Given the description of an element on the screen output the (x, y) to click on. 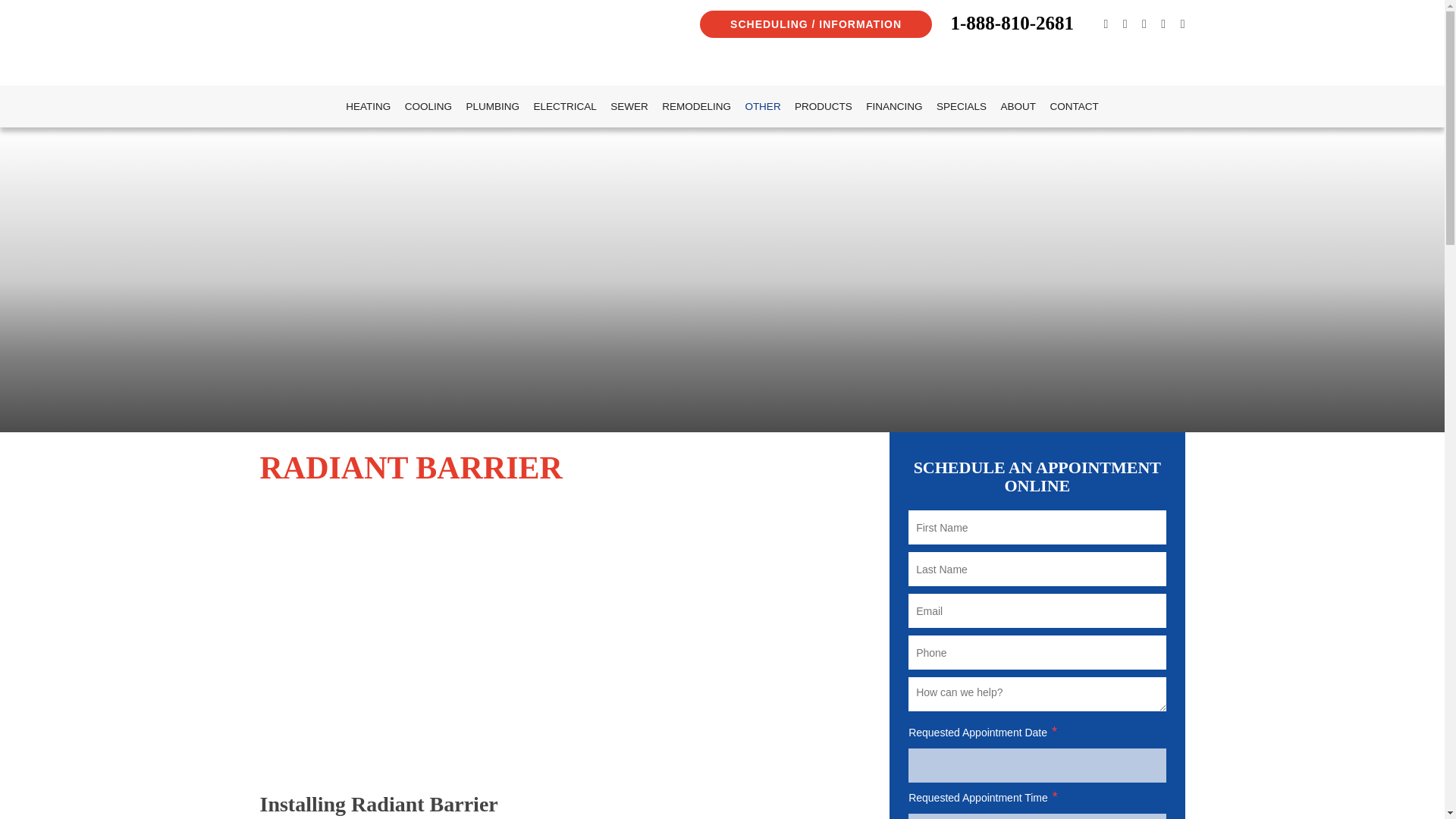
COOLING (427, 106)
1-888-810-2681 (1012, 23)
HEATING (368, 106)
